Given the description of an element on the screen output the (x, y) to click on. 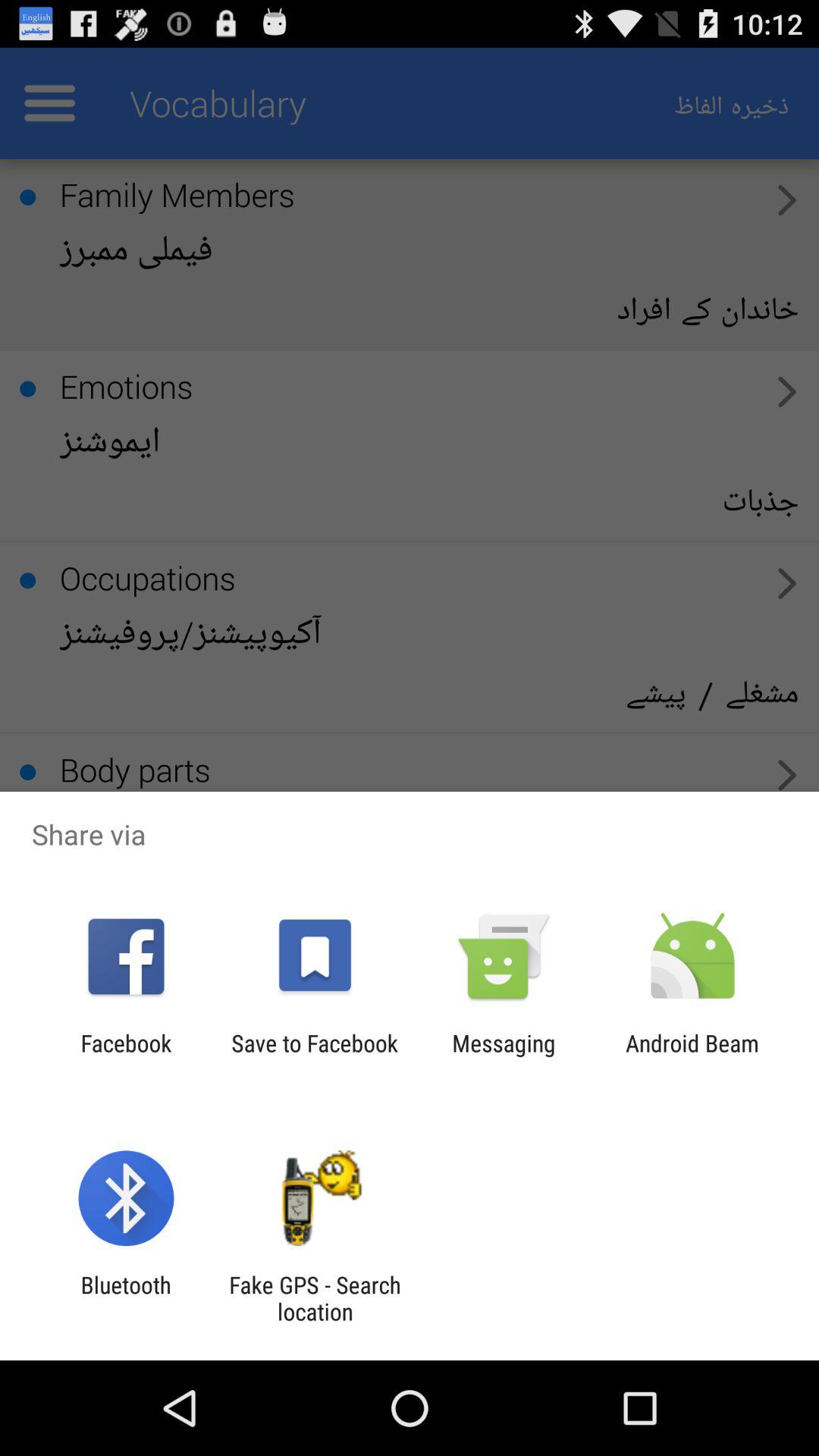
turn off save to facebook (314, 1056)
